Given the description of an element on the screen output the (x, y) to click on. 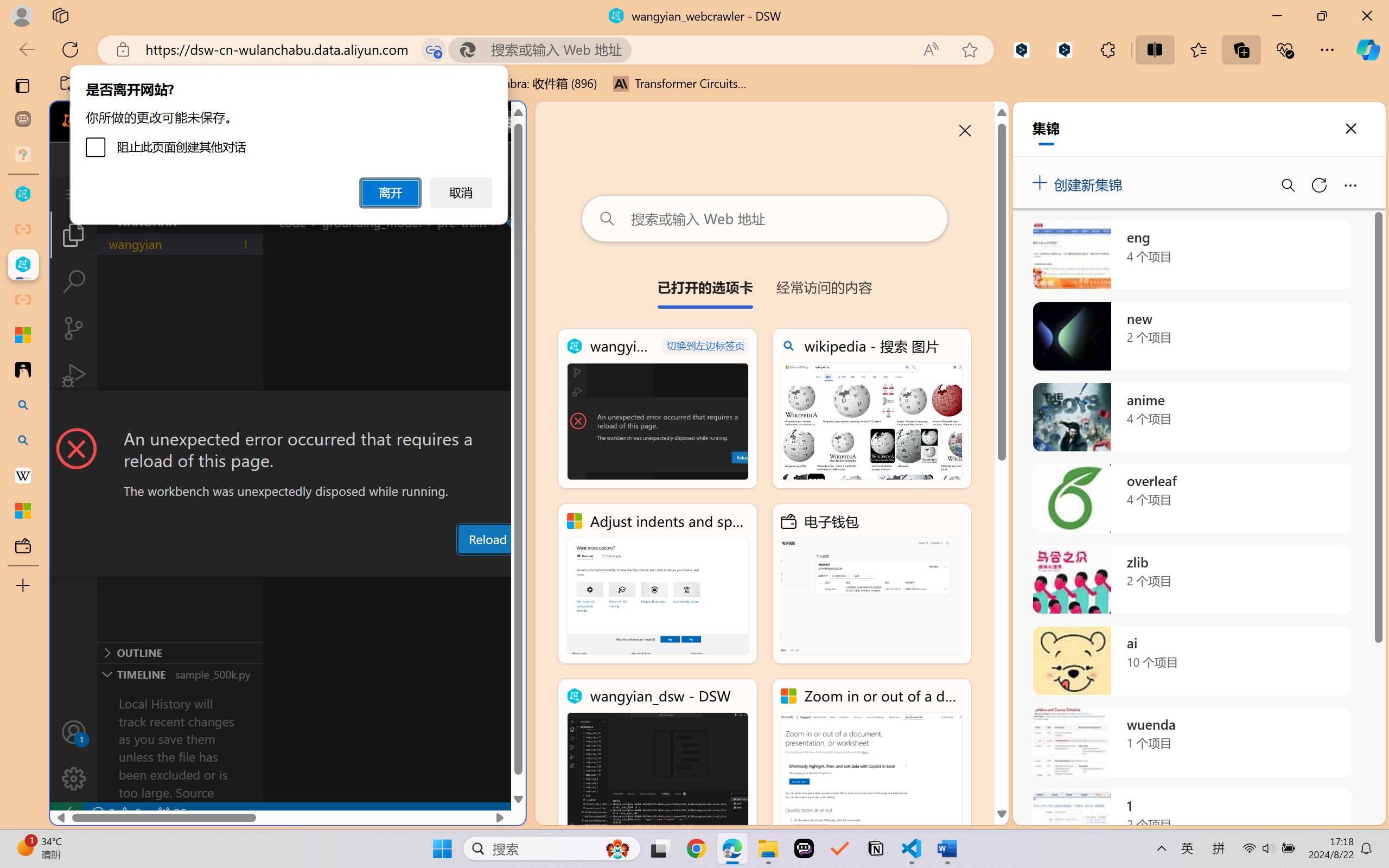
No Problems (115, 812)
Timeline Section (179, 673)
Adjust indents and spacing - Microsoft Support (657, 583)
remote (66, 812)
Earth - Wikipedia (22, 475)
Extensions (Ctrl+Shift+X) (73, 422)
